Given the description of an element on the screen output the (x, y) to click on. 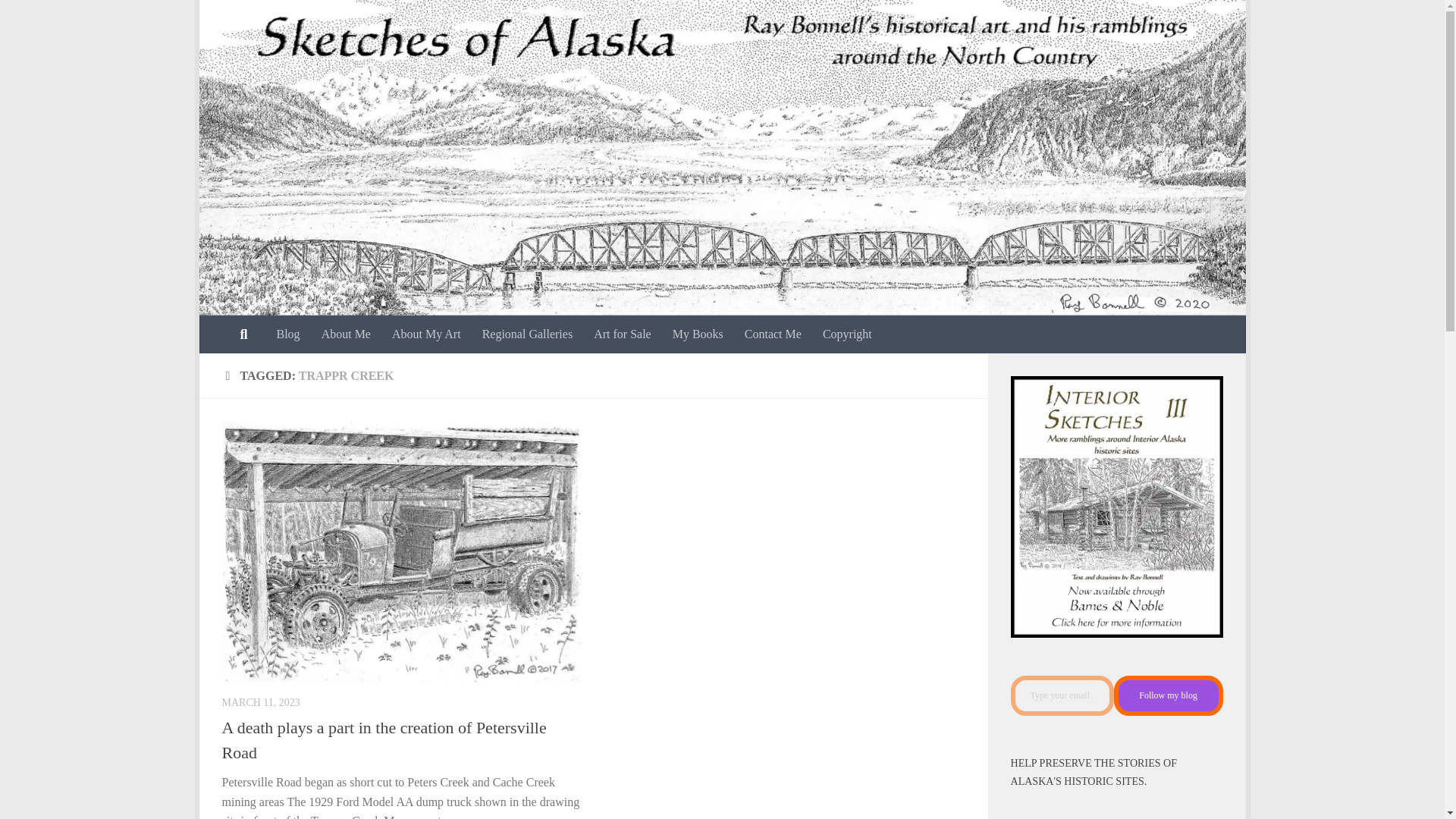
Contact Me (772, 333)
Copyright (847, 333)
A death plays a part in the creation of Petersville Road (383, 740)
About My Art (426, 333)
Follow my blog (1168, 695)
Art for Sale (622, 333)
Blog (287, 333)
Regional Galleries (527, 333)
About Me (346, 333)
My Books (697, 333)
Skip to content (258, 20)
